Given the description of an element on the screen output the (x, y) to click on. 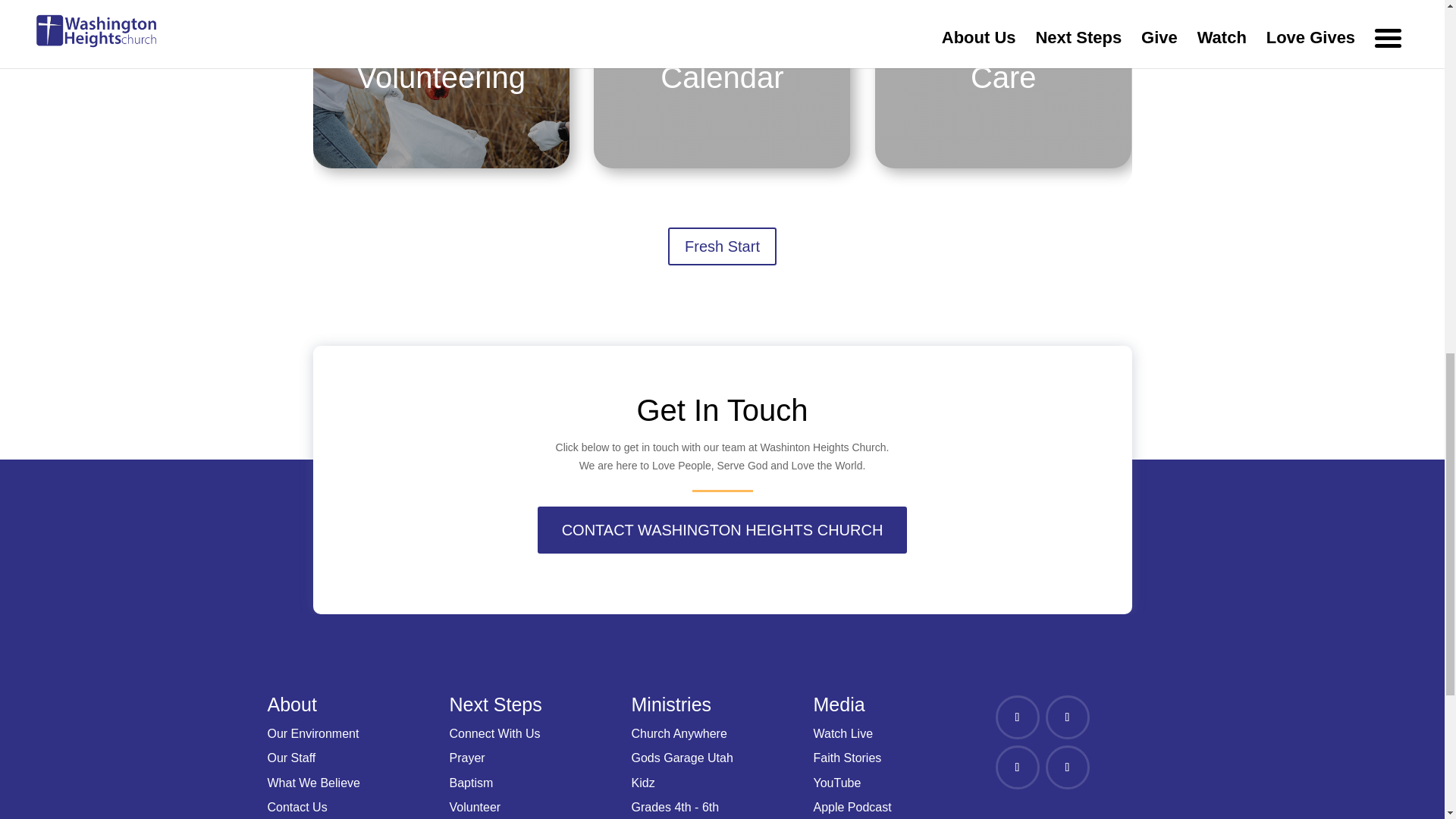
Follow on X (1067, 717)
Follow on Facebook (1016, 717)
Follow on Youtube (1067, 767)
Follow on Instagram (1016, 767)
